Given the description of an element on the screen output the (x, y) to click on. 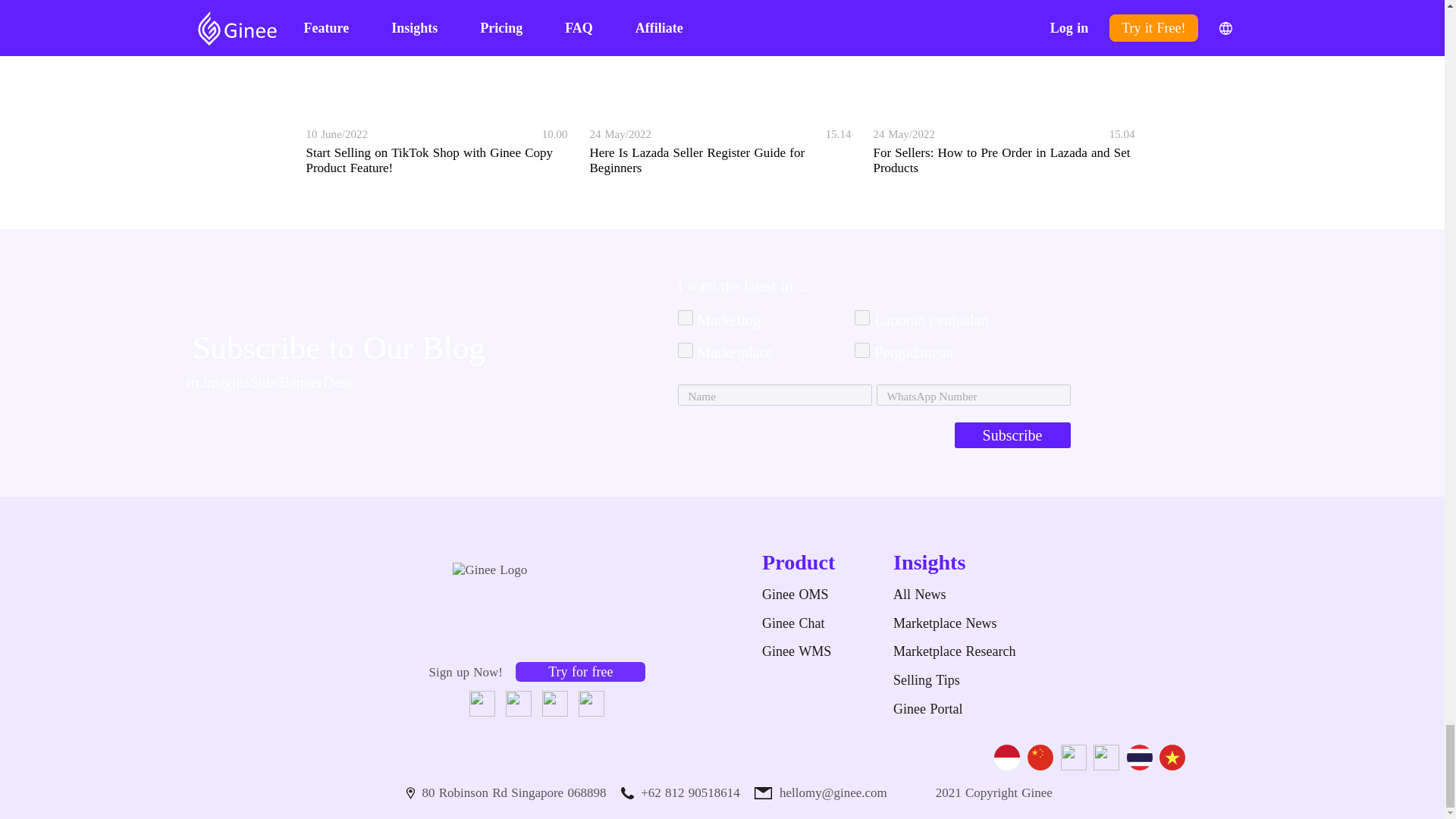
Marketing (685, 317)
All News (953, 595)
Marketplace Research (953, 651)
Laporan penjualan (861, 317)
Marketplace News (944, 622)
Ginee Portal (927, 708)
Marketplace (685, 350)
Pergudangan (861, 350)
Selling Tips (926, 679)
